Given the description of an element on the screen output the (x, y) to click on. 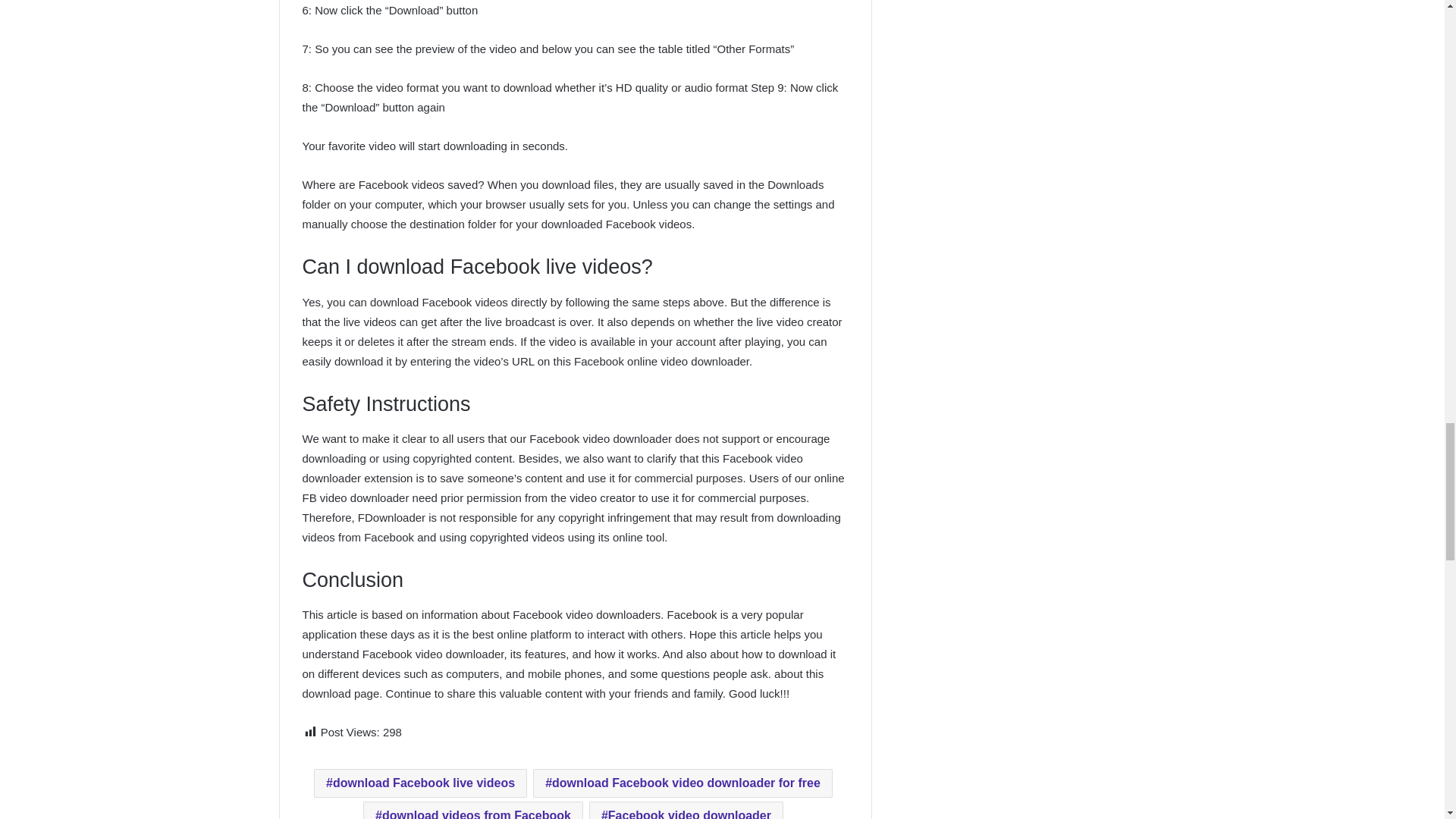
download Facebook live videos (420, 783)
Facebook video downloader (686, 810)
download videos from Facebook (472, 810)
download Facebook video downloader for free (682, 783)
